Given the description of an element on the screen output the (x, y) to click on. 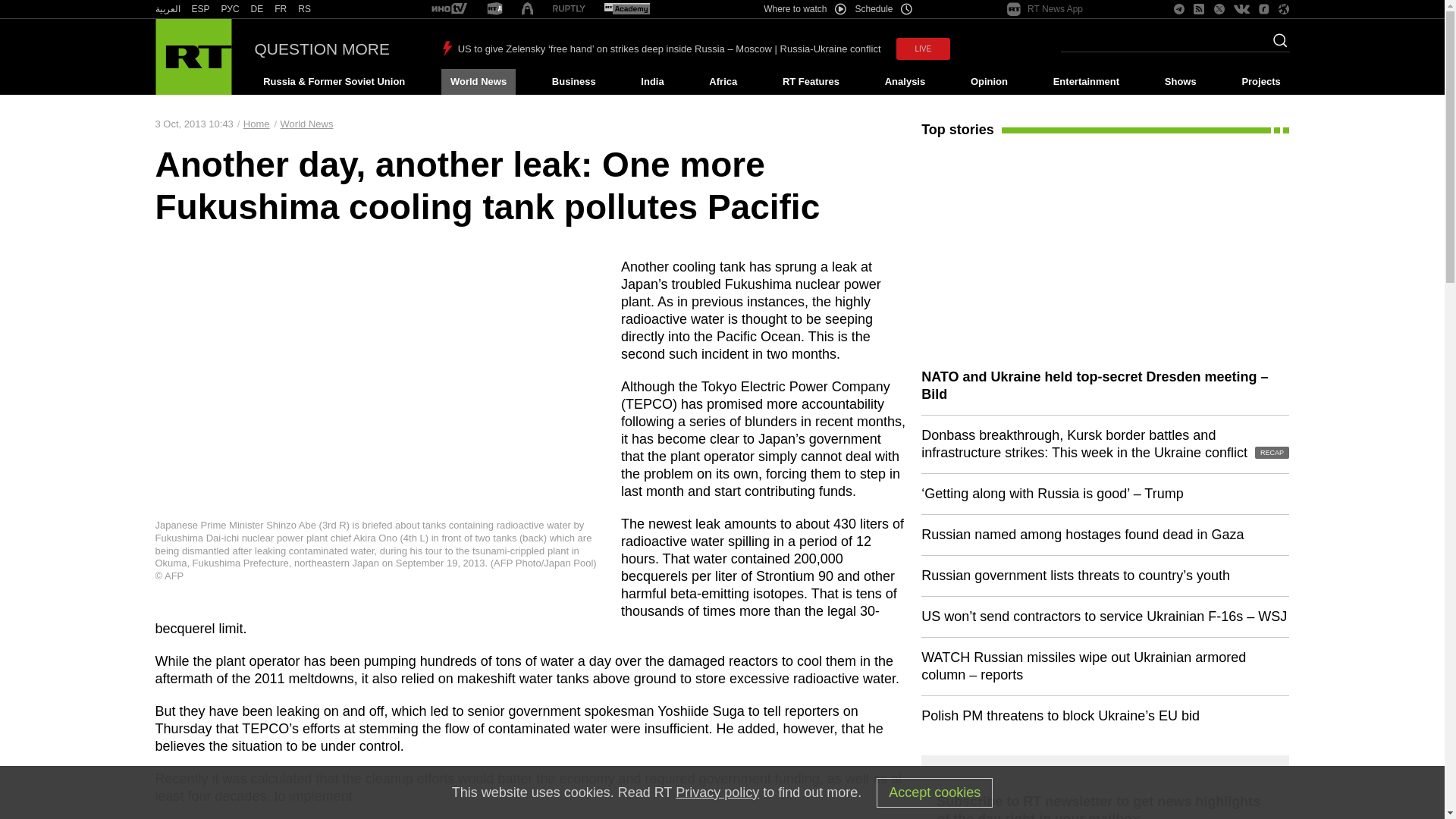
Entertainment (1085, 81)
RT  (199, 9)
Opinion (988, 81)
RS (304, 9)
DE (256, 9)
Search (1276, 44)
RT  (256, 9)
RT  (448, 9)
ESP (199, 9)
LIVE (923, 48)
